Given the description of an element on the screen output the (x, y) to click on. 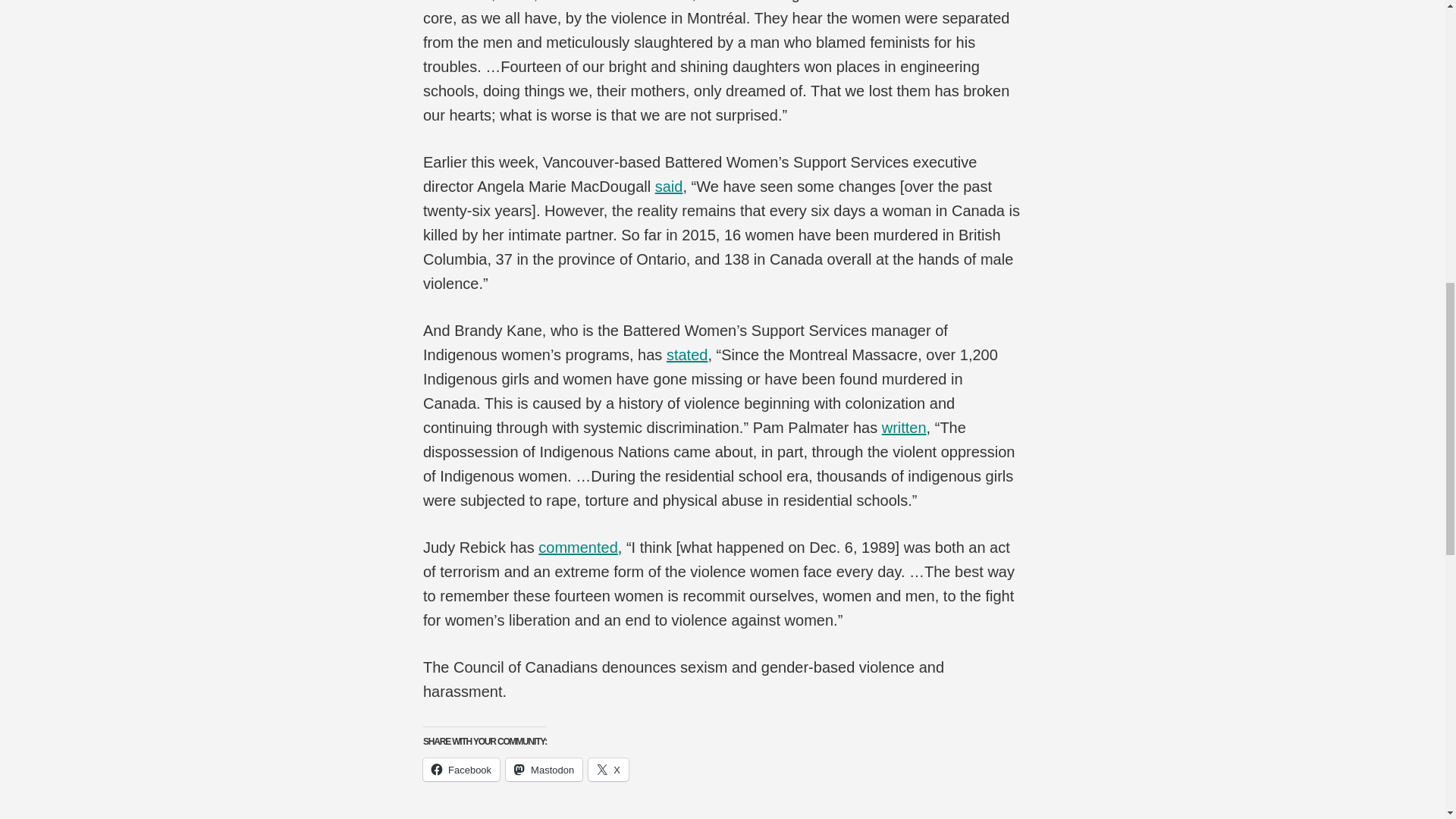
Click to share on Mastodon (543, 769)
commented (577, 547)
Mastodon (543, 769)
said (668, 186)
Facebook (461, 769)
written (904, 427)
Click to share on Facebook (461, 769)
X (608, 769)
Click to share on X (608, 769)
stated (686, 354)
